Given the description of an element on the screen output the (x, y) to click on. 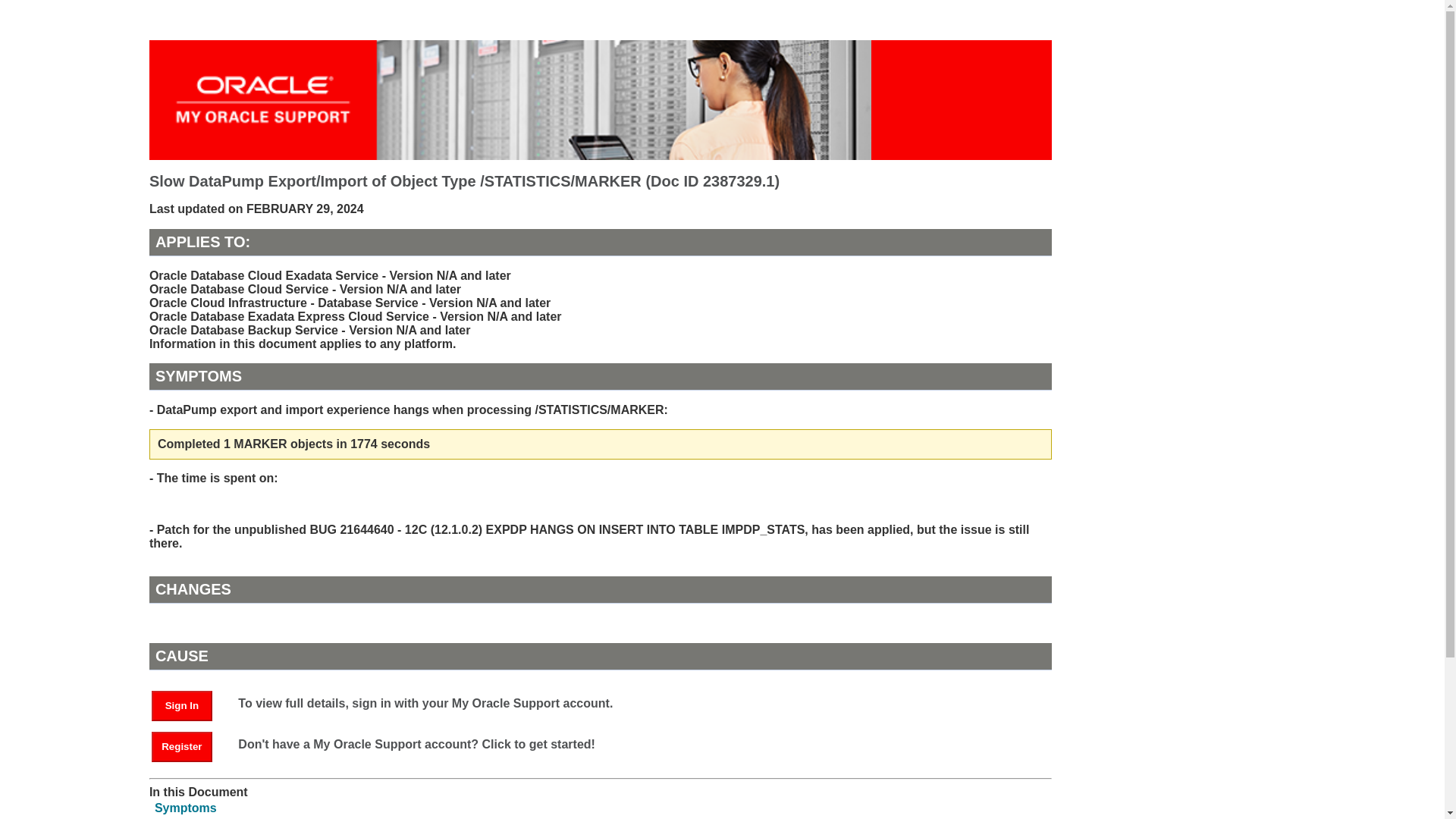
Symptoms (185, 807)
Register (181, 747)
Sign In (181, 706)
Sign In (189, 704)
Register (189, 745)
